Given the description of an element on the screen output the (x, y) to click on. 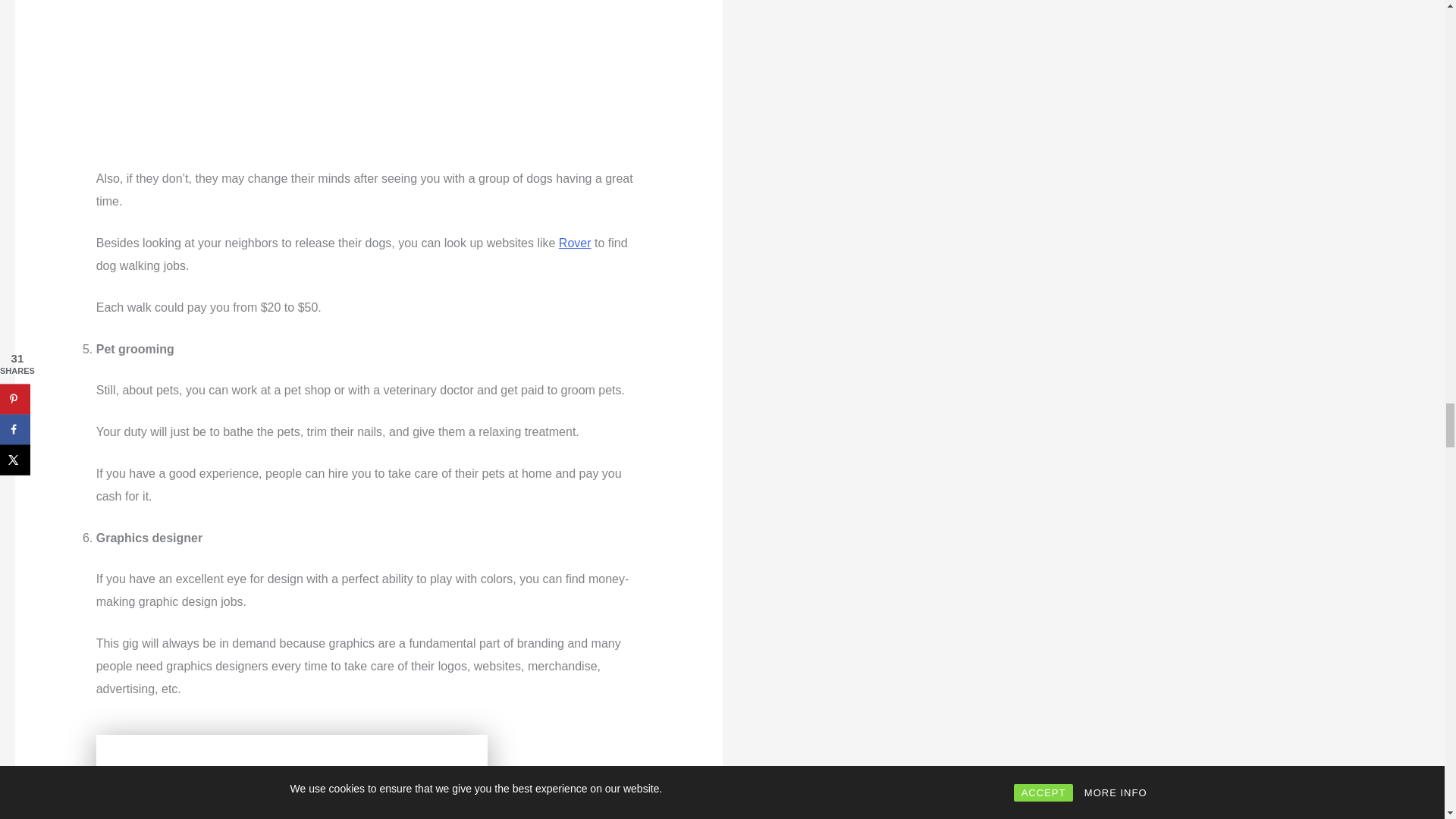
Rover (575, 242)
